Given the description of an element on the screen output the (x, y) to click on. 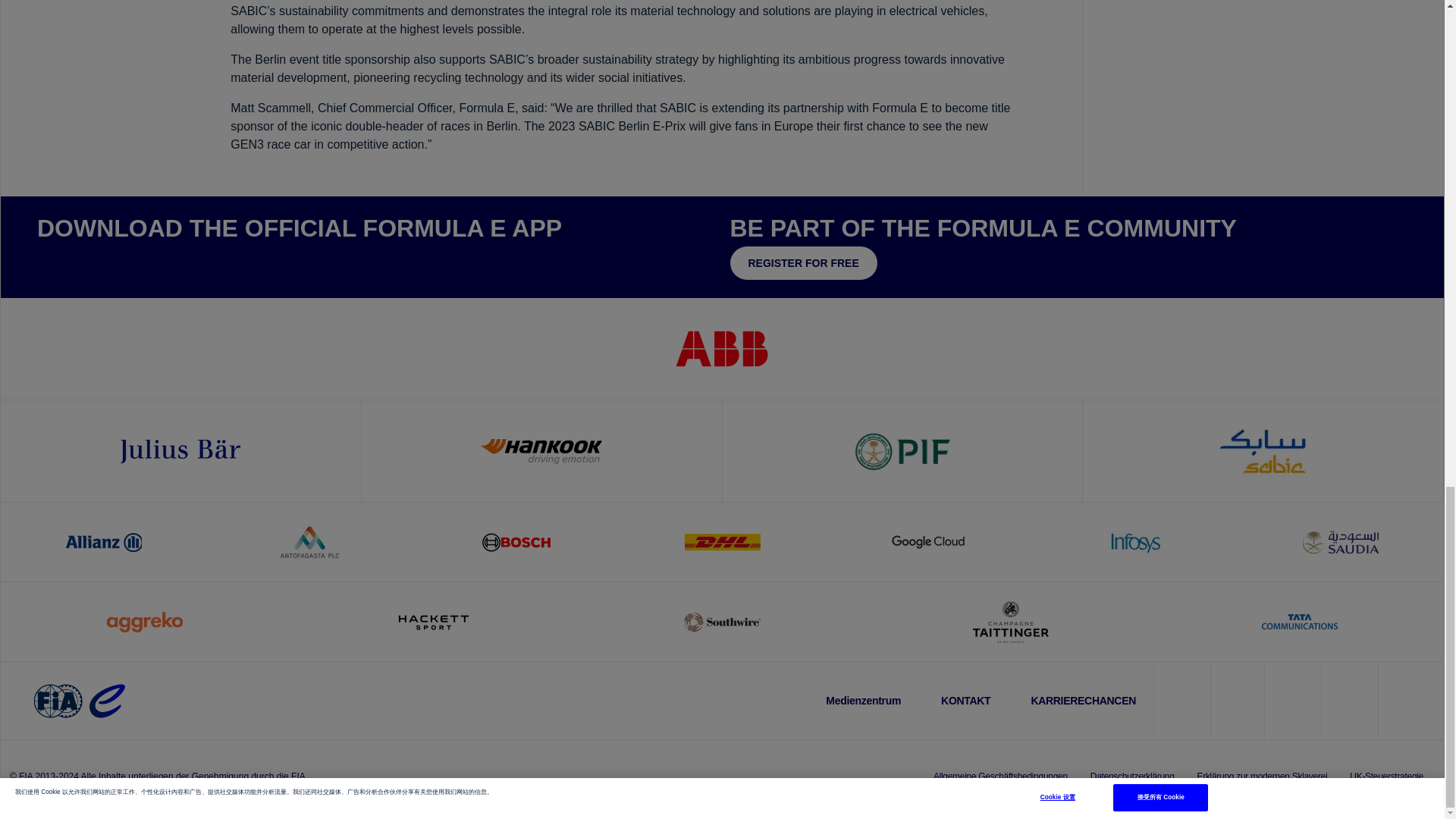
Title Partner (721, 348)
Register for free (802, 263)
